Given the description of an element on the screen output the (x, y) to click on. 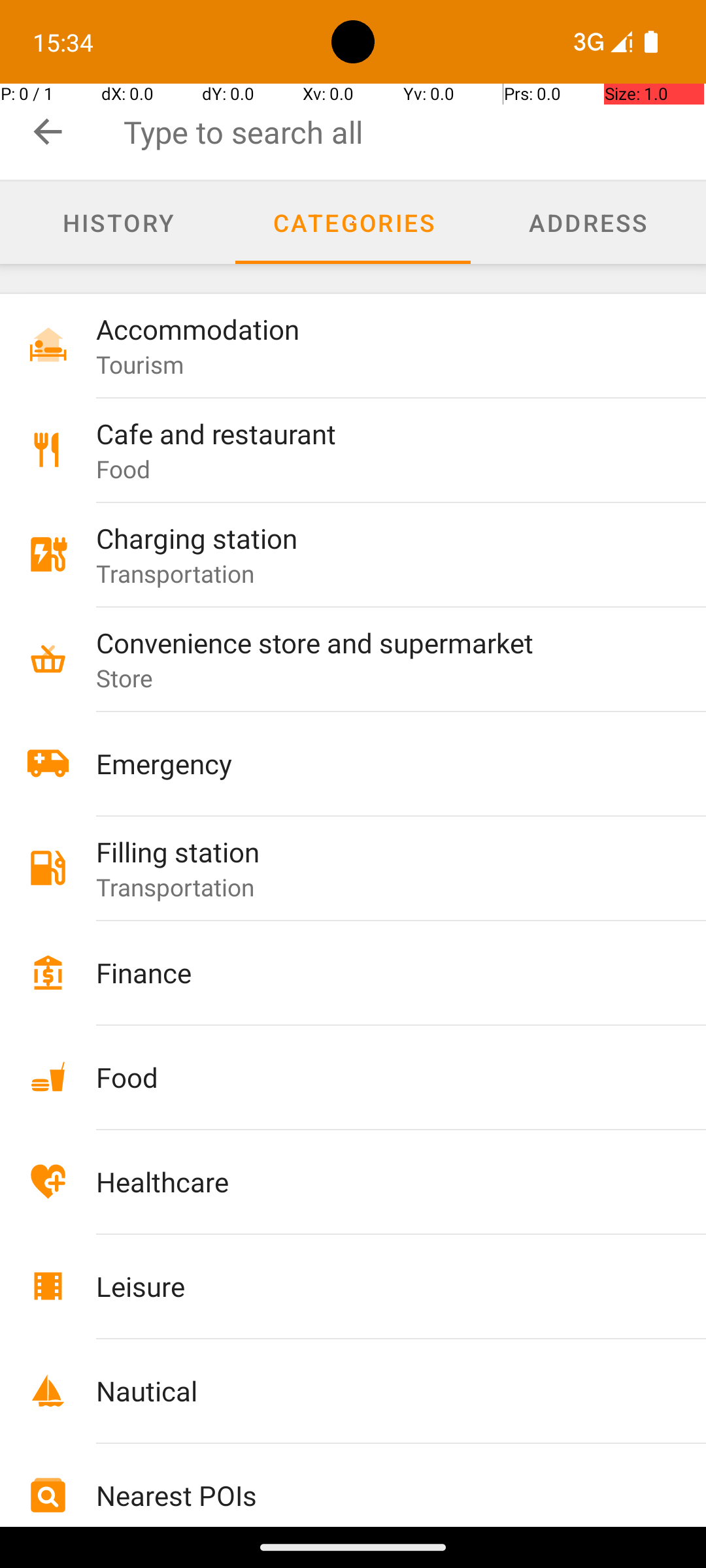
Type to search all Element type: android.widget.EditText (414, 131)
History Element type: android.widget.LinearLayout (117, 222)
Categories Element type: android.widget.LinearLayout (352, 222)
Address Element type: android.widget.LinearLayout (588, 222)
HISTORY Element type: android.widget.TextView (117, 222)
CATEGORIES Element type: android.widget.TextView (352, 222)
ADDRESS Element type: android.widget.TextView (587, 222)
Accommodation Element type: android.widget.TextView (373, 328)
Tourism Element type: android.widget.TextView (140, 363)
Cafe and restaurant Element type: android.widget.TextView (373, 433)
Charging station Element type: android.widget.TextView (373, 537)
Transportation Element type: android.widget.TextView (175, 572)
Convenience store and supermarket Element type: android.widget.TextView (373, 642)
Store Element type: android.widget.TextView (124, 677)
Emergency Element type: android.widget.TextView (373, 763)
Filling station Element type: android.widget.TextView (373, 851)
Healthcare Element type: android.widget.TextView (373, 1181)
Leisure Element type: android.widget.TextView (373, 1285)
Nautical Element type: android.widget.TextView (373, 1390)
Nearest POIs Element type: android.widget.TextView (373, 1494)
